Given the description of an element on the screen output the (x, y) to click on. 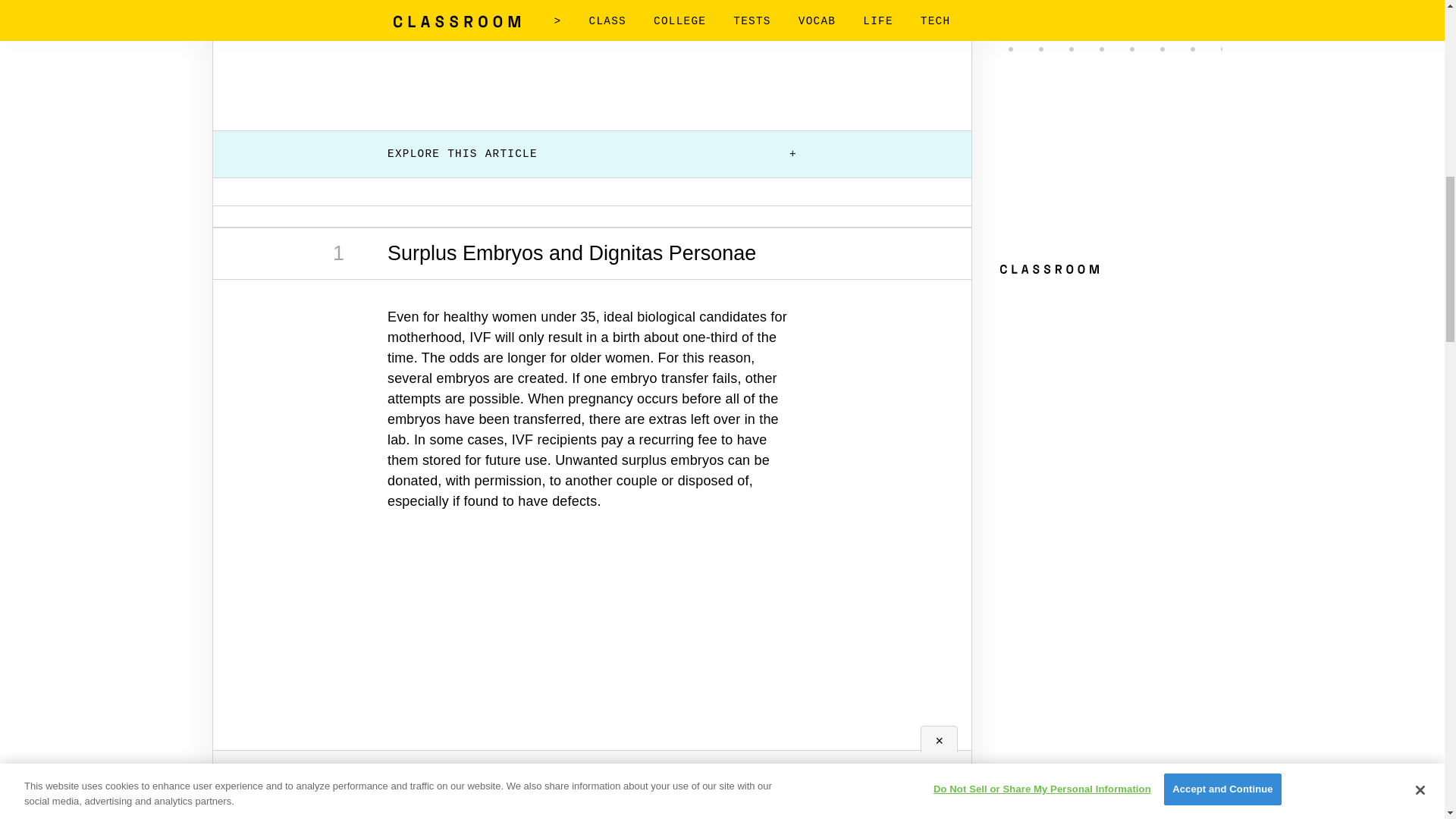
3rd party ad content (592, 647)
3rd party ad content (592, 51)
